Given the description of an element on the screen output the (x, y) to click on. 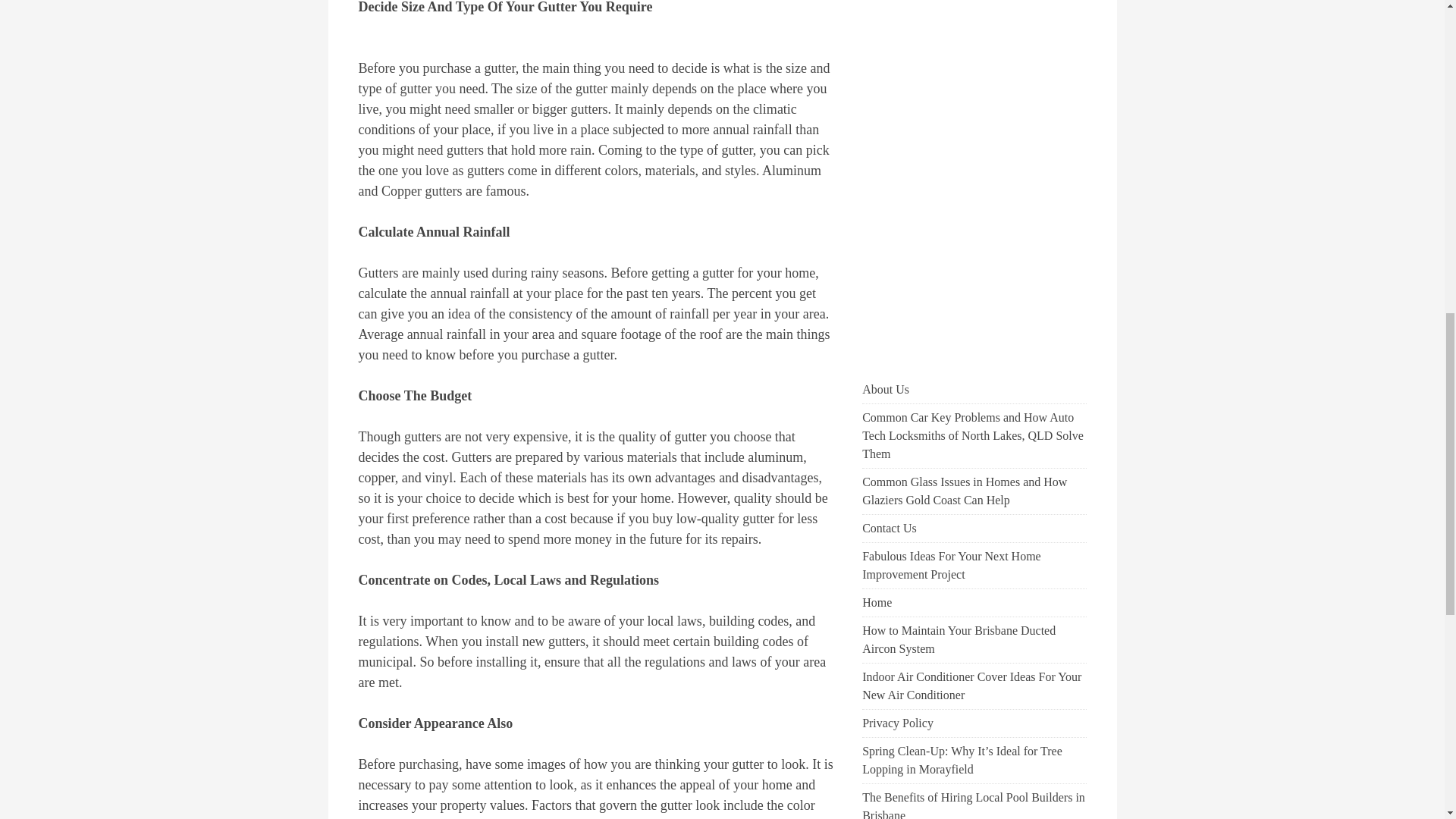
Fabulous Ideas For Your Next Home Improvement Project (951, 564)
About Us (884, 389)
Contact Us (889, 527)
Home (876, 602)
The Benefits of Hiring Local Pool Builders in Brisbane (972, 805)
How to Maintain Your Brisbane Ducted Aircon System (958, 639)
Privacy Policy (897, 722)
